Given the description of an element on the screen output the (x, y) to click on. 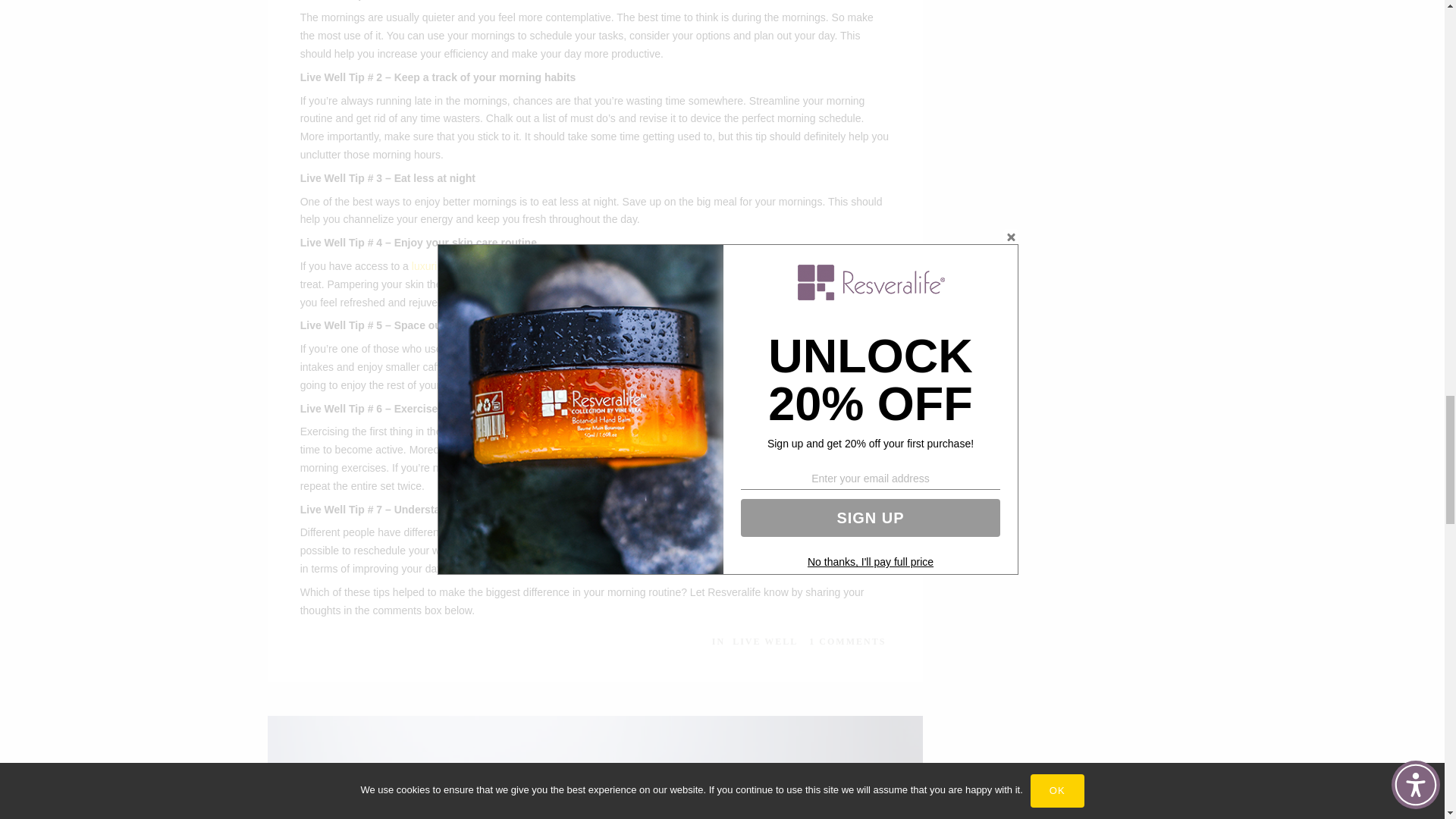
About Vine Vera Skin Care (479, 265)
